Given the description of an element on the screen output the (x, y) to click on. 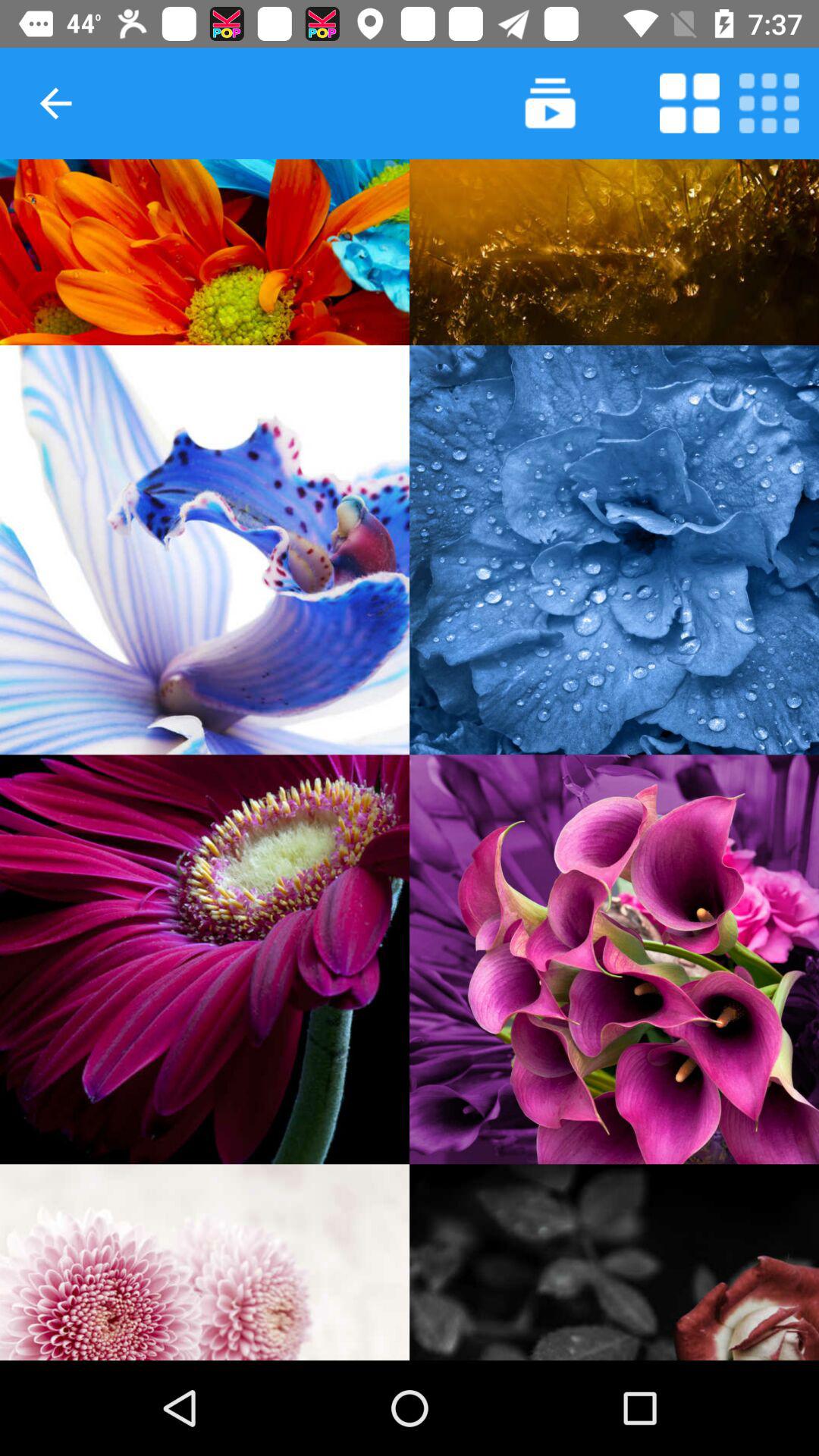
select photo (204, 959)
